Given the description of an element on the screen output the (x, y) to click on. 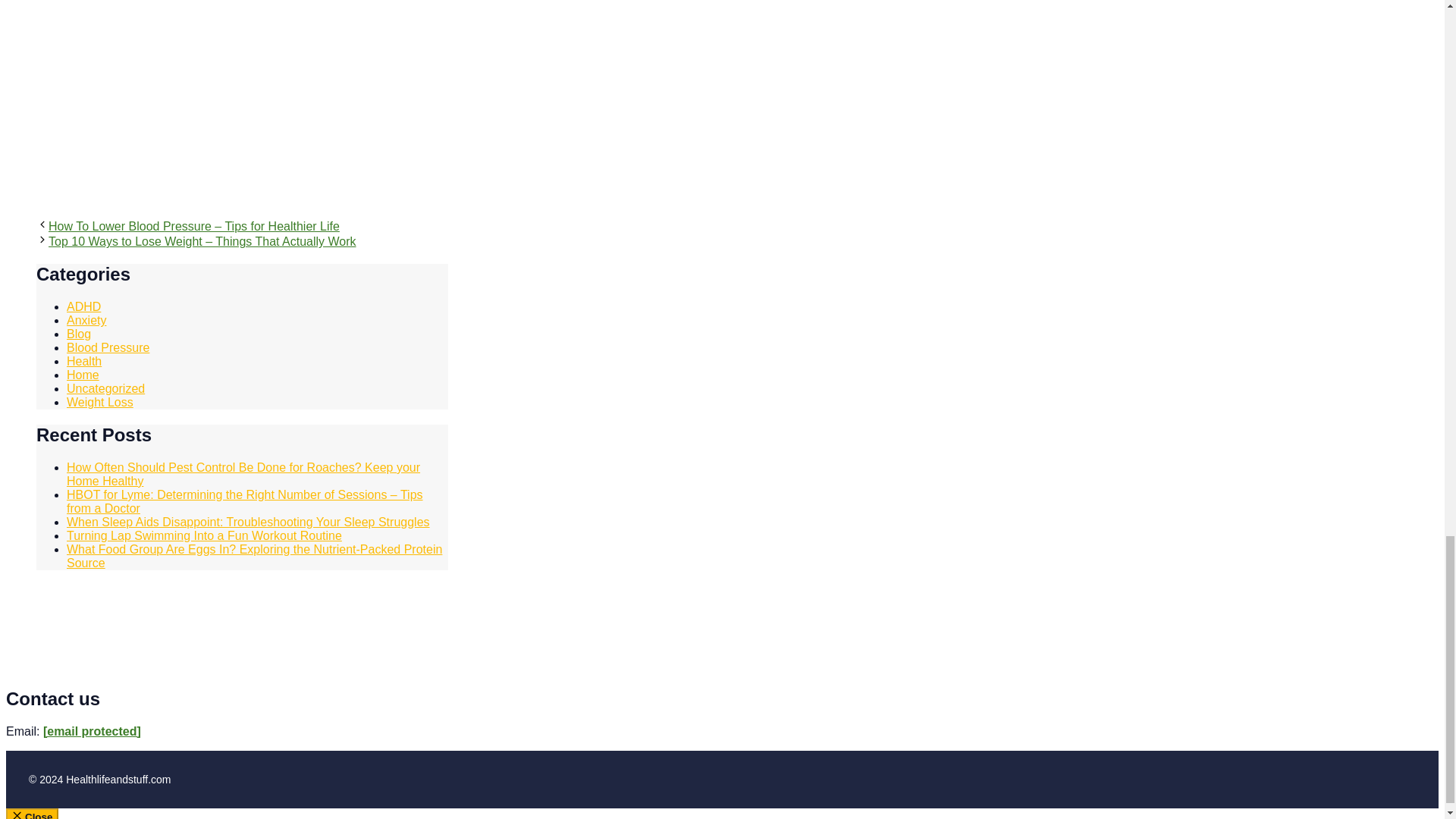
Home (82, 374)
Blood Pressure (107, 347)
Weight Loss (99, 401)
Blog (78, 333)
Health (83, 360)
Turning Lap Swimming Into a Fun Workout Routine (204, 535)
ADHD (83, 306)
Anxiety (86, 319)
